Given the description of an element on the screen output the (x, y) to click on. 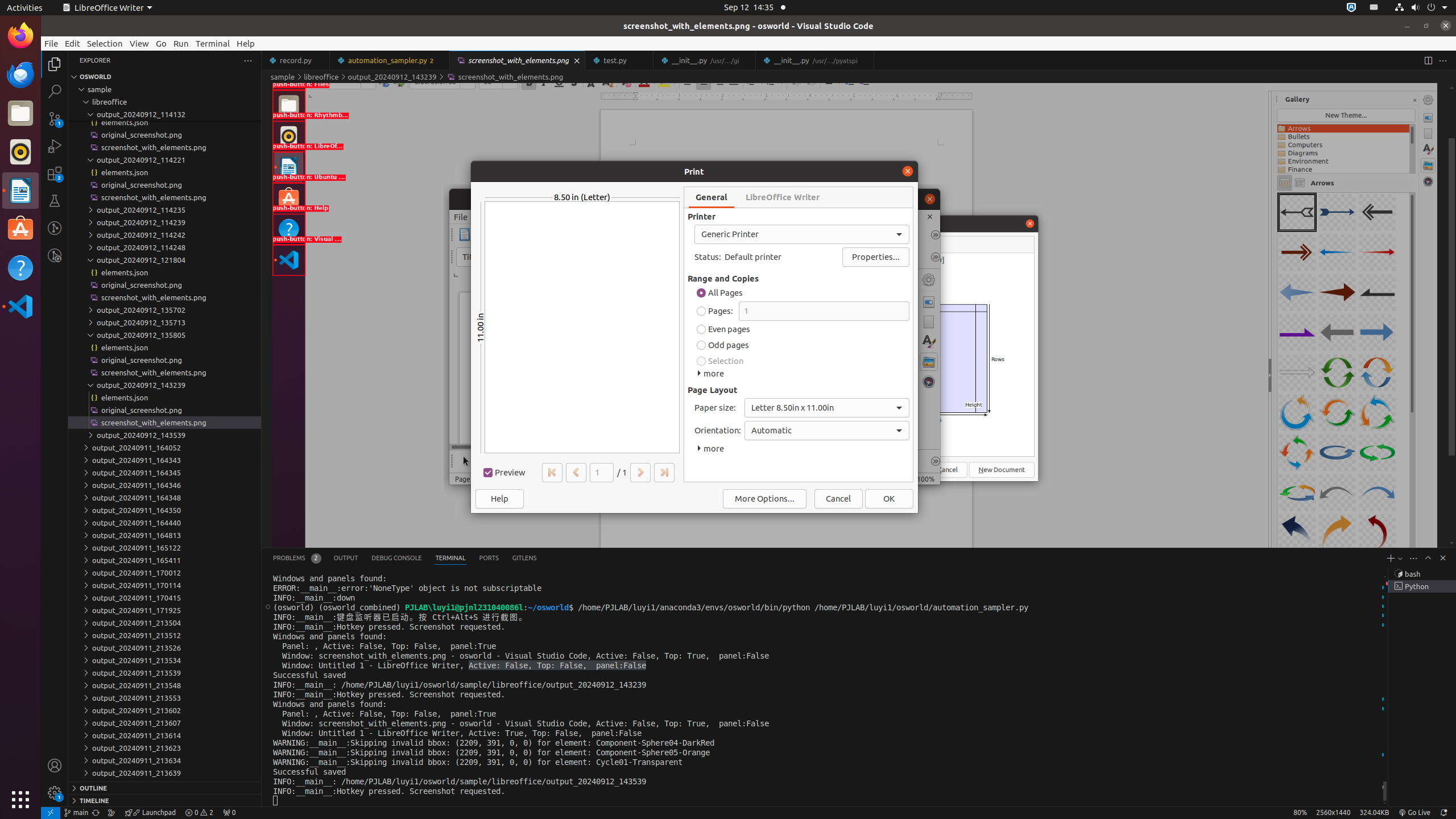
LibreOffice Writer Element type: menu (106, 7)
Ubuntu Software Element type: push-button (20, 229)
Show Applications Element type: toggle-button (20, 799)
:1.21/StatusNotifierItem Element type: menu (1373, 7)
LibreOffice Writer Element type: push-button (20, 190)
